Given the description of an element on the screen output the (x, y) to click on. 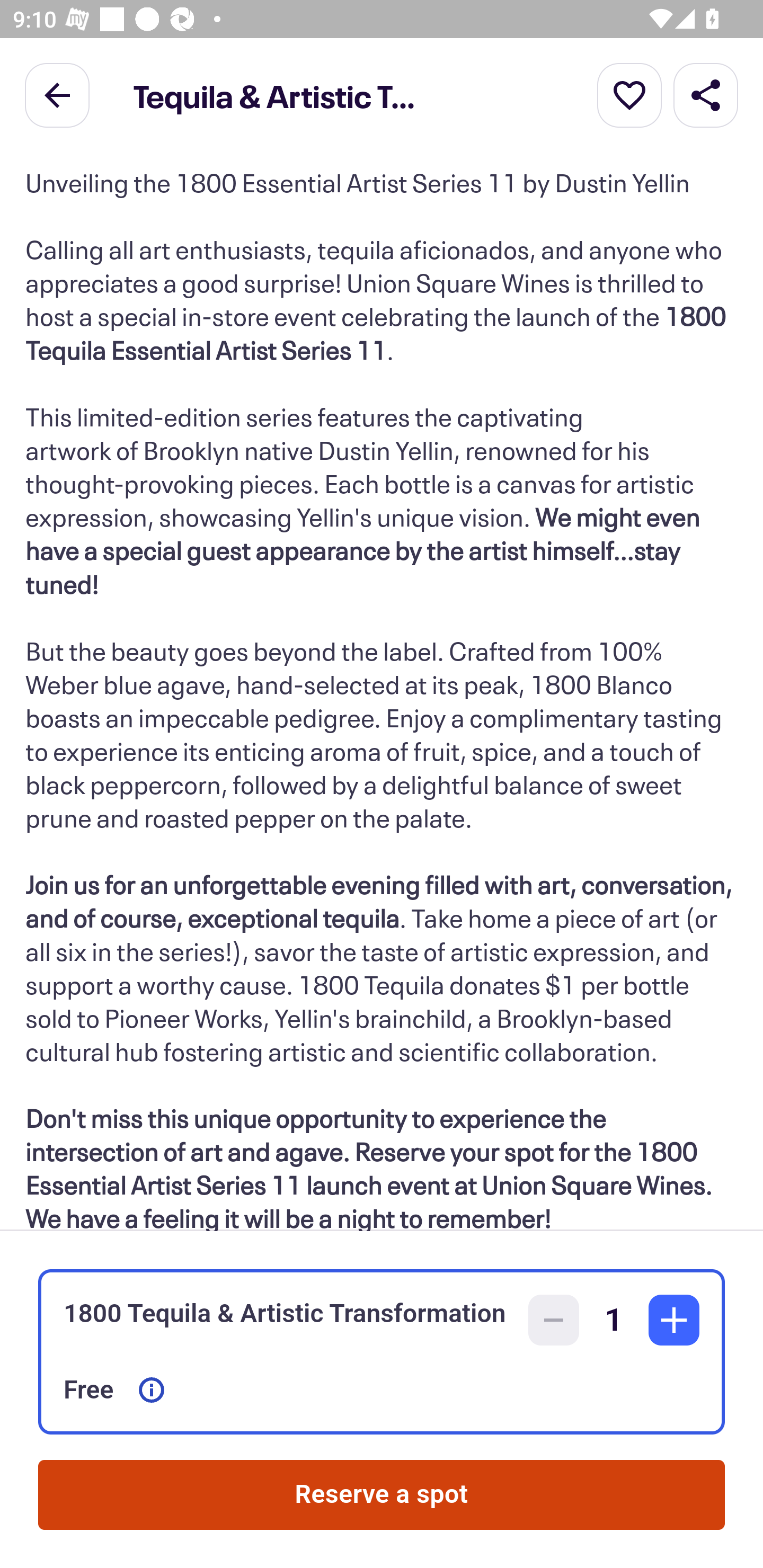
Back (57, 94)
More (629, 94)
Share (705, 94)
Decrease (553, 1320)
Increase (673, 1320)
Show more information (151, 1389)
Reserve a spot (381, 1494)
